Given the description of an element on the screen output the (x, y) to click on. 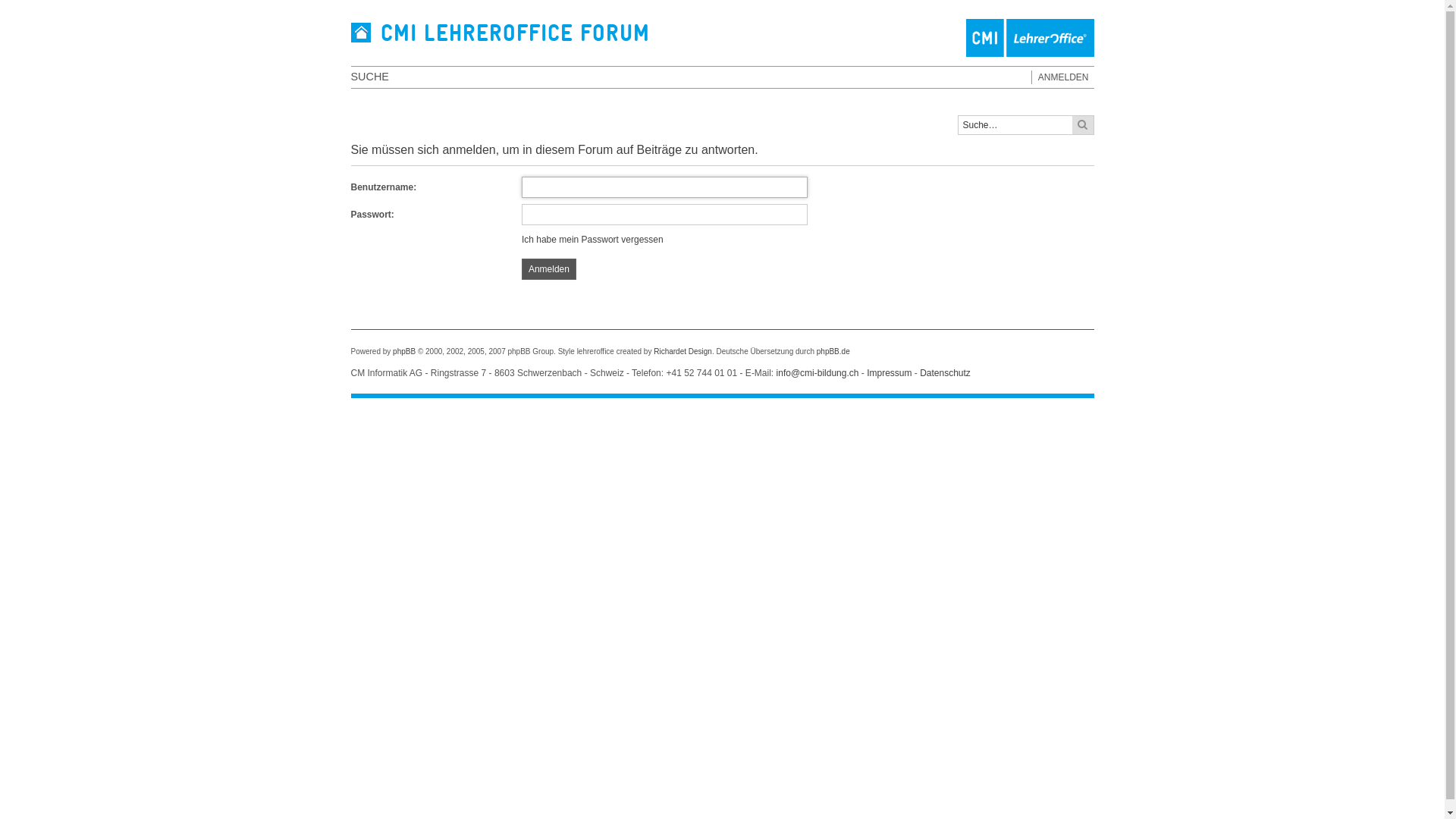
Impressum Element type: text (888, 372)
Suche Element type: text (1082, 125)
Ich habe mein Passwort vergessen Element type: text (592, 239)
Datenschutz Element type: text (944, 372)
phpBB.de Element type: text (833, 351)
ANMELDEN Element type: text (1059, 77)
Website von LehrerOffice Element type: hover (721, 37)
info@cmi-bildung.ch Element type: text (817, 372)
Anmelden Element type: text (548, 268)
Richardet Design Element type: text (682, 351)
SUCHE Element type: text (369, 76)
phpBB Element type: text (403, 351)
